Given the description of an element on the screen output the (x, y) to click on. 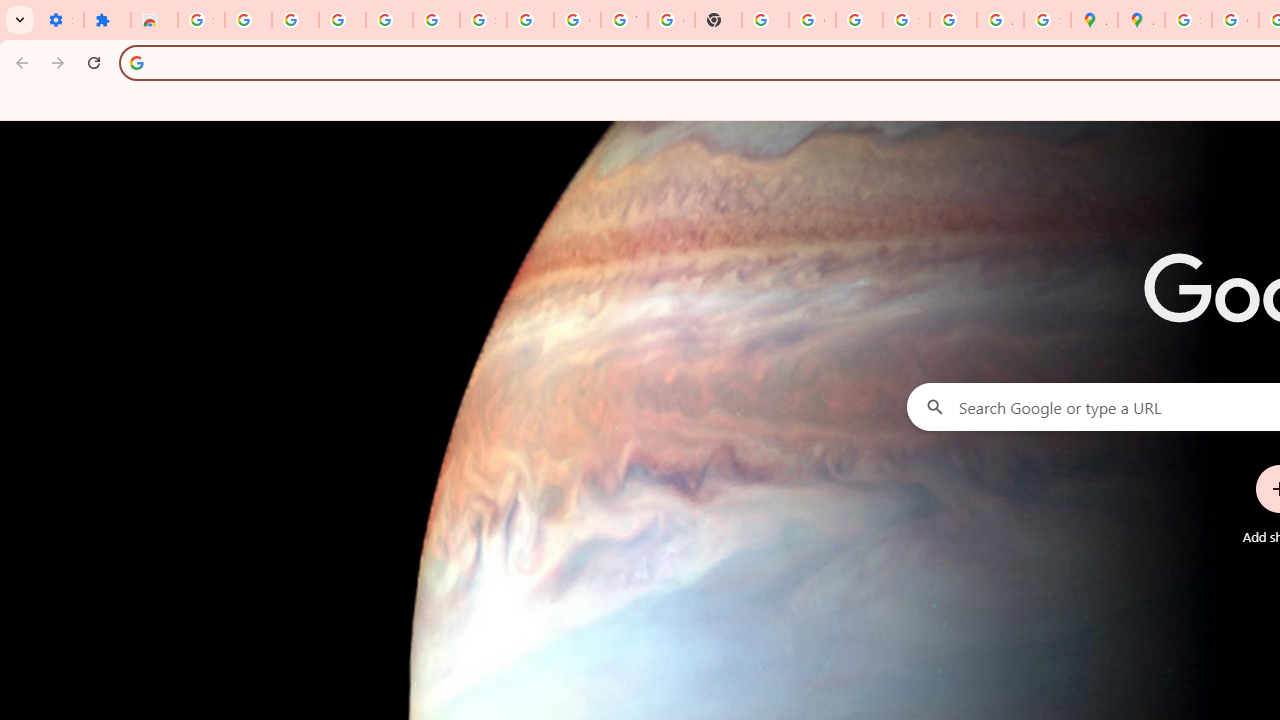
Sign in - Google Accounts (482, 20)
